Given the description of an element on the screen output the (x, y) to click on. 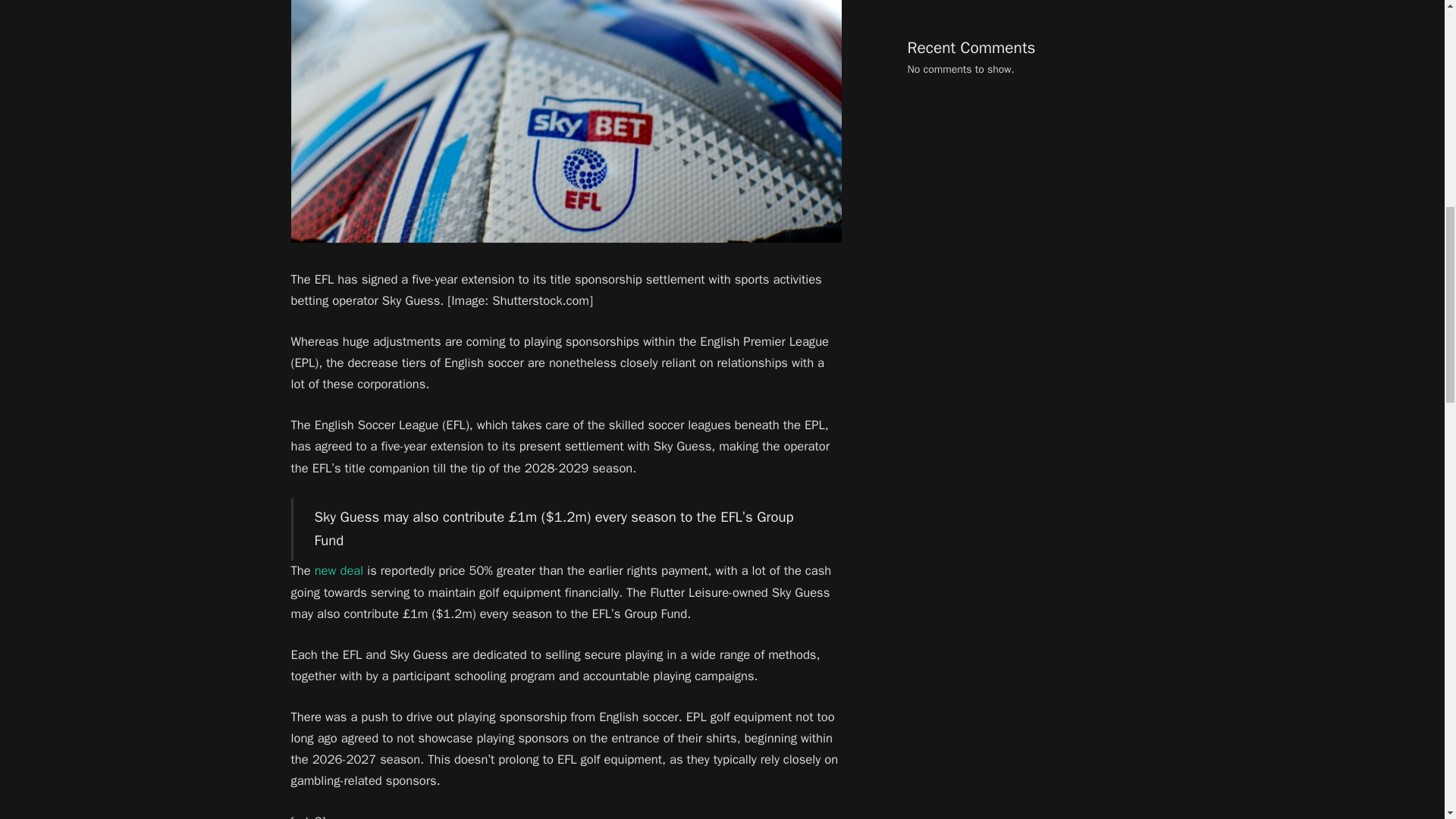
new deal (339, 570)
